Given the description of an element on the screen output the (x, y) to click on. 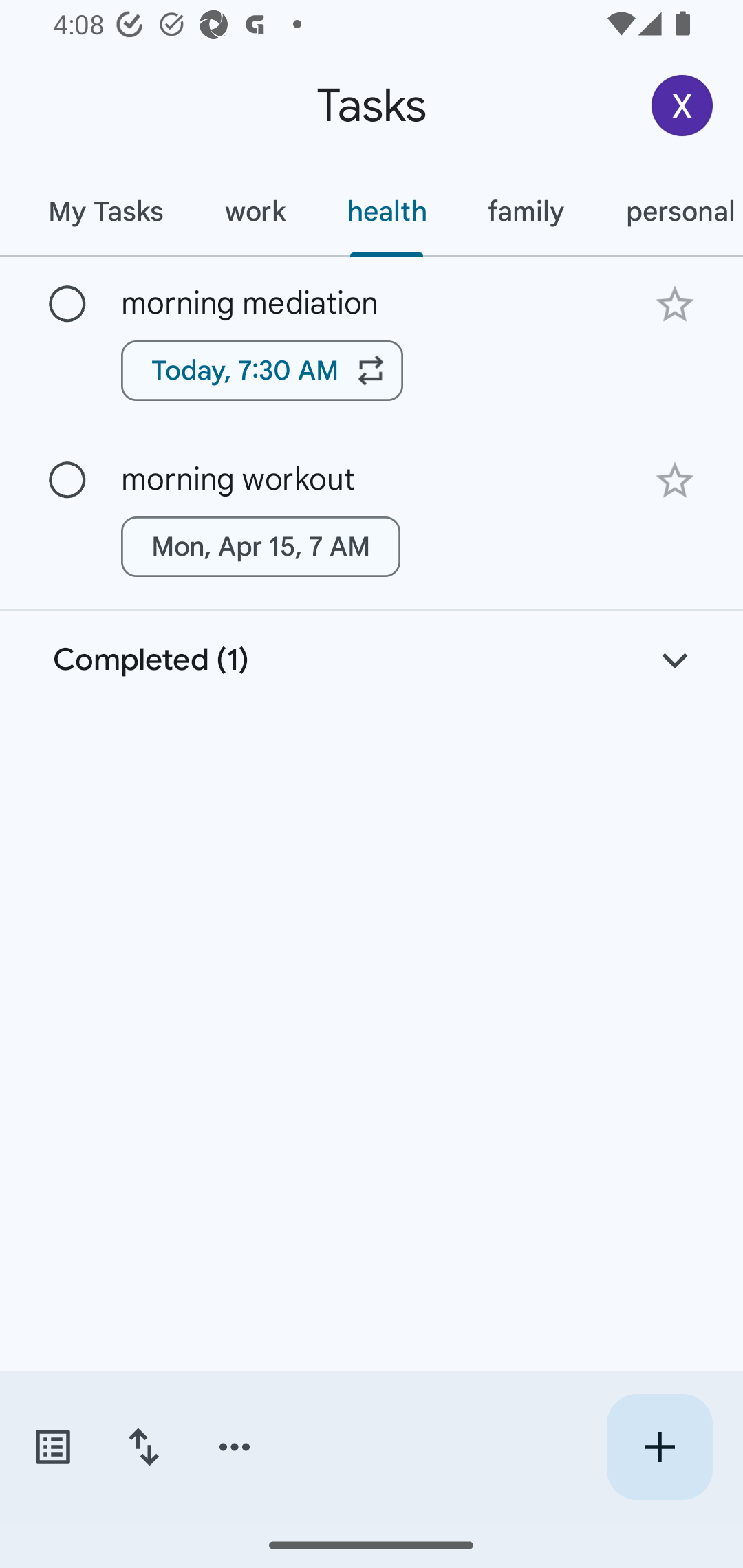
My Tasks (105, 211)
work (254, 211)
family (525, 211)
personal (669, 211)
Add star (674, 303)
Mark as complete (67, 304)
Today, 7:30 AM (262, 369)
Add star (674, 480)
Mark as complete (67, 480)
Mon, Apr 15, 7 AM (260, 546)
Completed (1) (371, 660)
Switch task lists (52, 1447)
Create new task (659, 1446)
Change sort order (143, 1446)
More options (234, 1446)
